Given the description of an element on the screen output the (x, y) to click on. 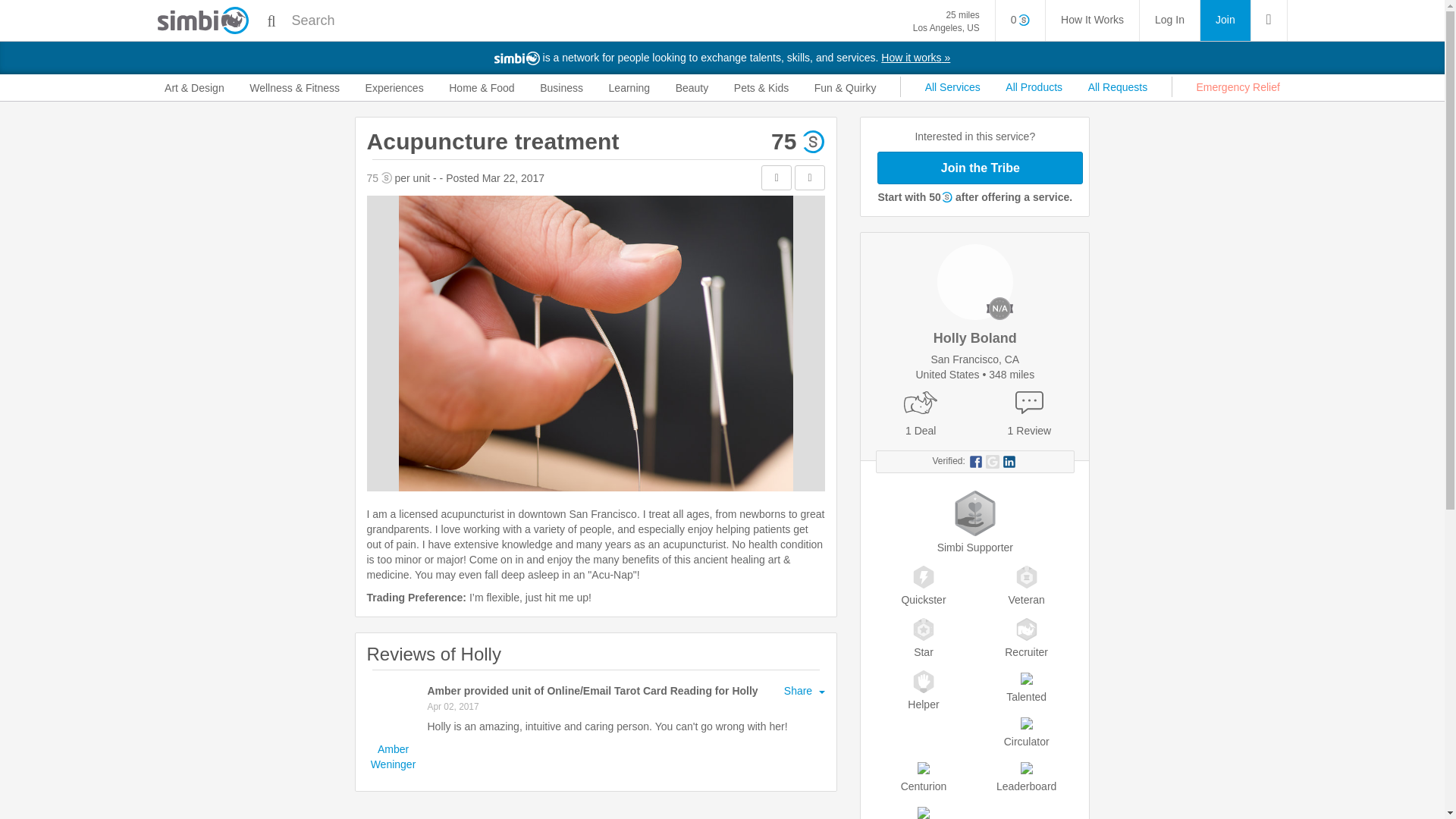
How It Works (1091, 20)
Join (1224, 20)
Log In (1169, 20)
0 (1020, 20)
